Given the description of an element on the screen output the (x, y) to click on. 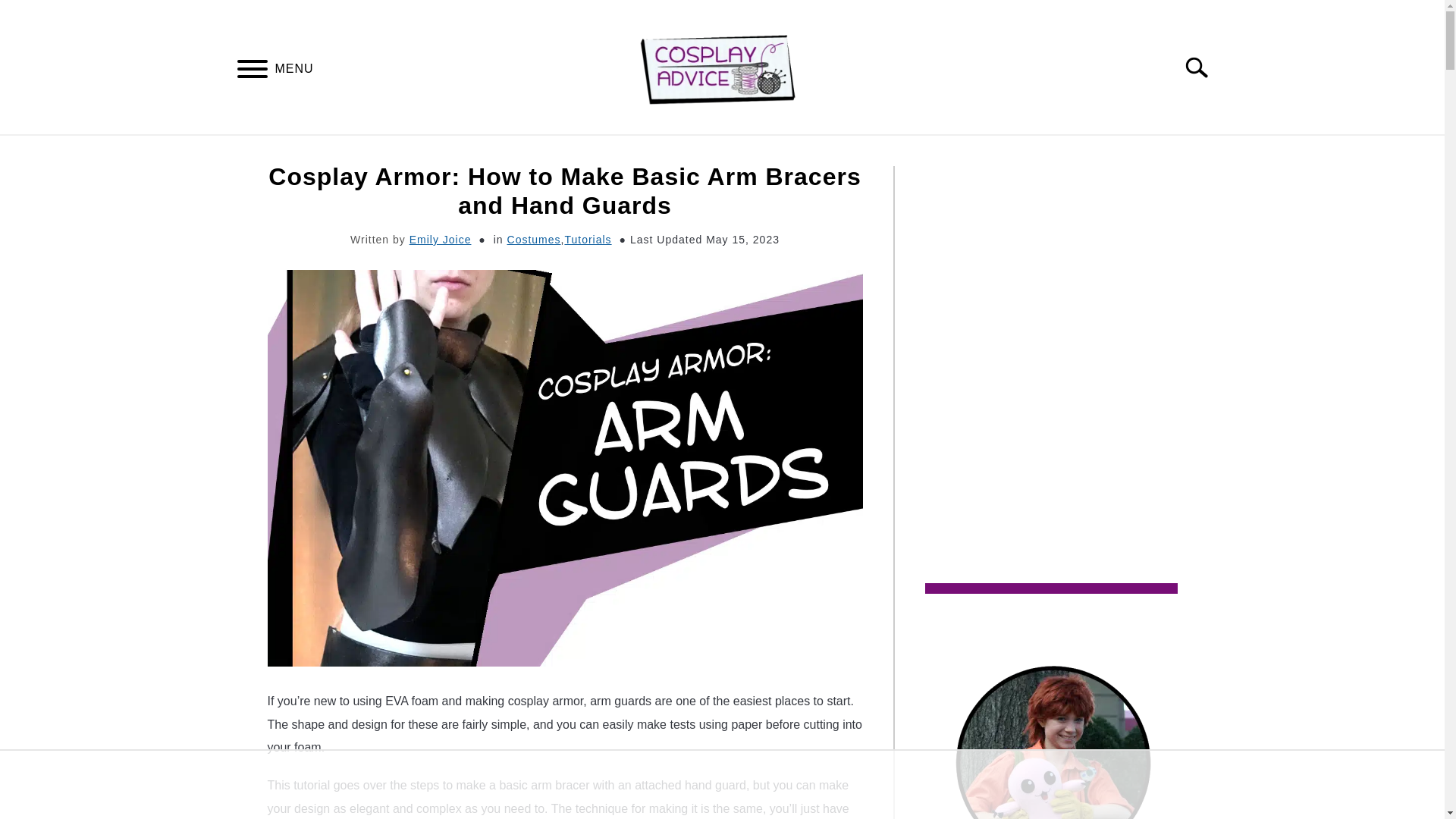
Search (1203, 67)
Emily Joice (440, 239)
Tutorials (587, 239)
MENU (251, 70)
Costumes (533, 239)
